Given the description of an element on the screen output the (x, y) to click on. 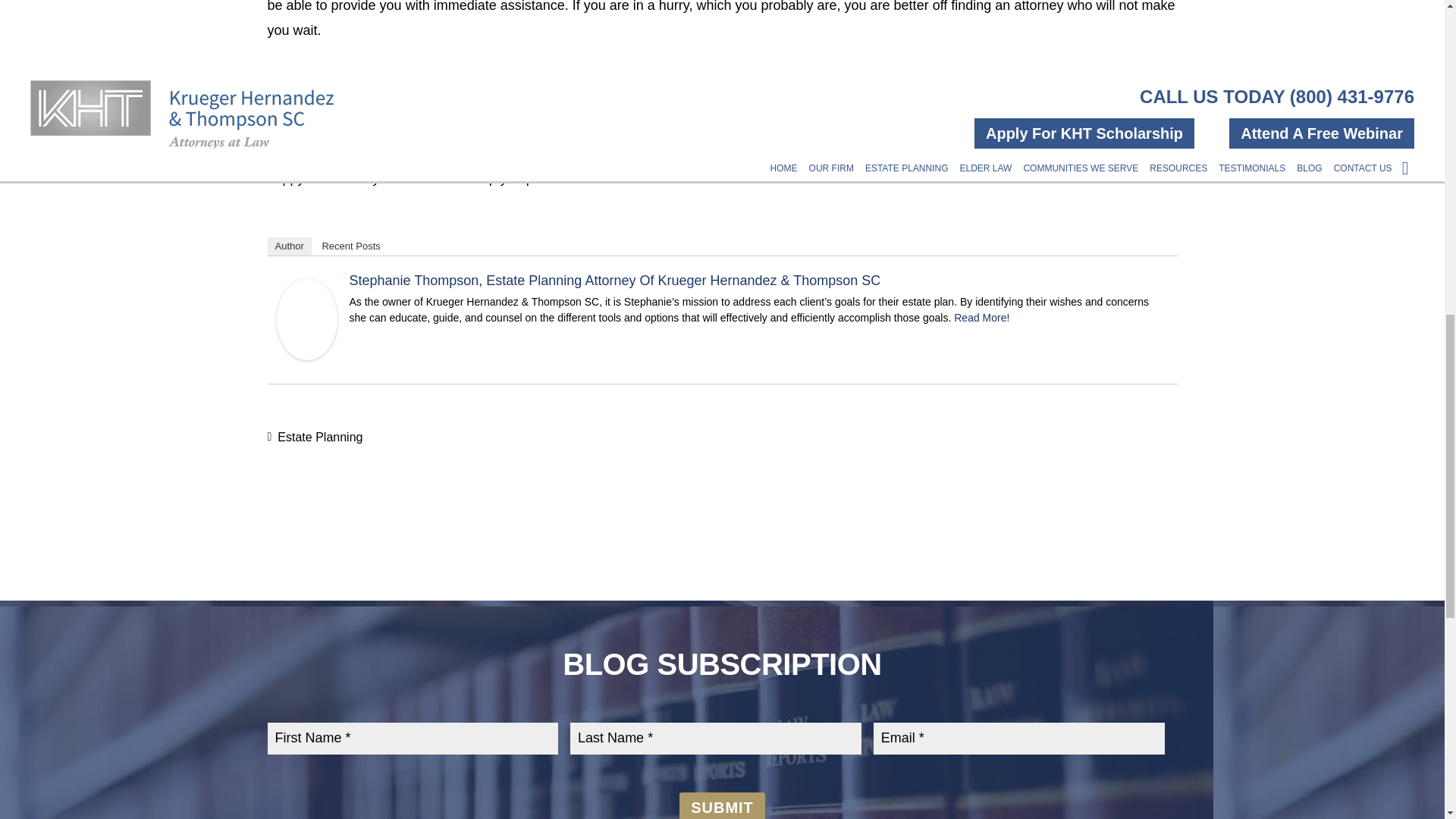
Submit (722, 805)
